Given the description of an element on the screen output the (x, y) to click on. 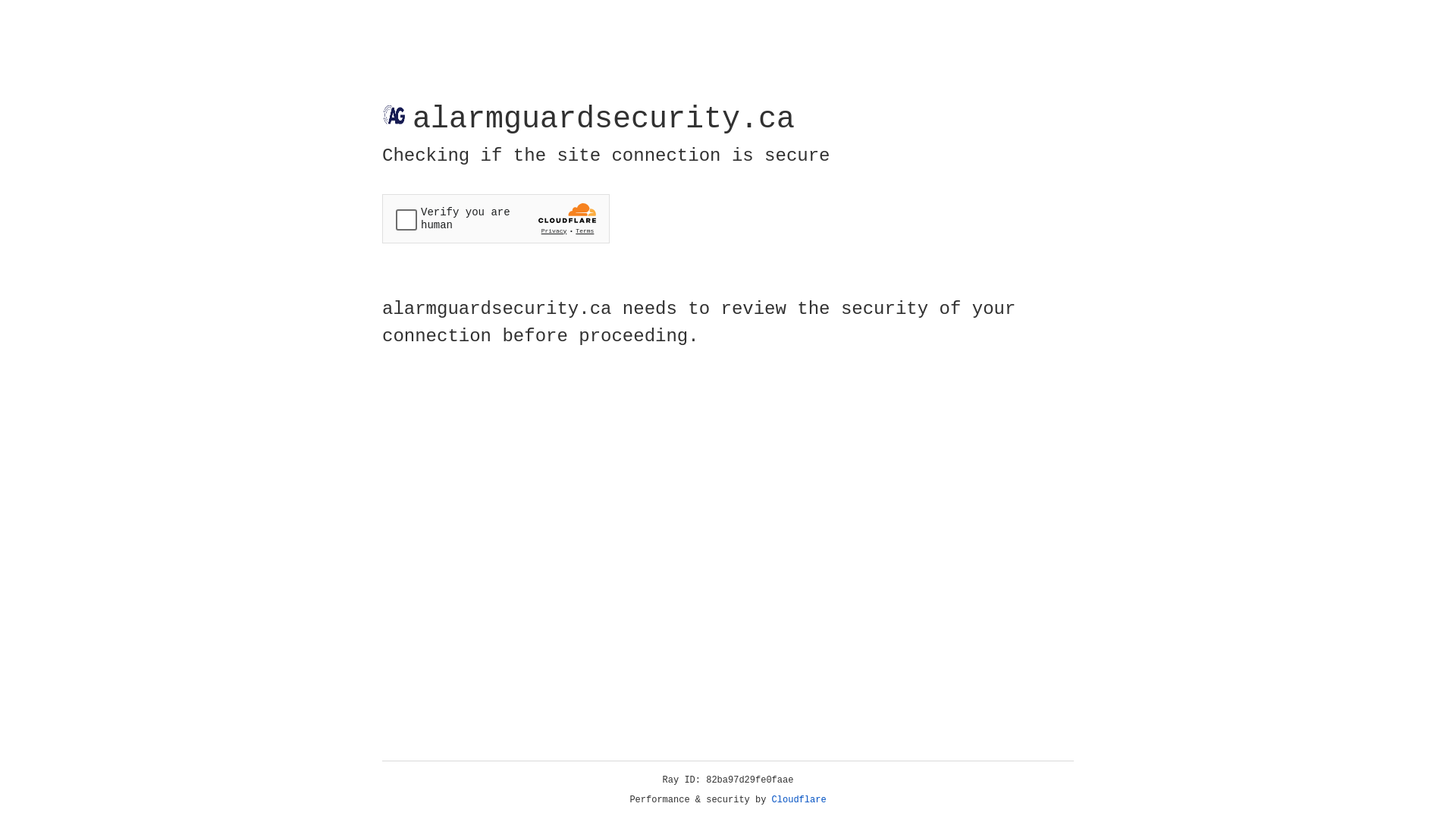
Widget containing a Cloudflare security challenge Element type: hover (495, 218)
Cloudflare Element type: text (798, 799)
